Given the description of an element on the screen output the (x, y) to click on. 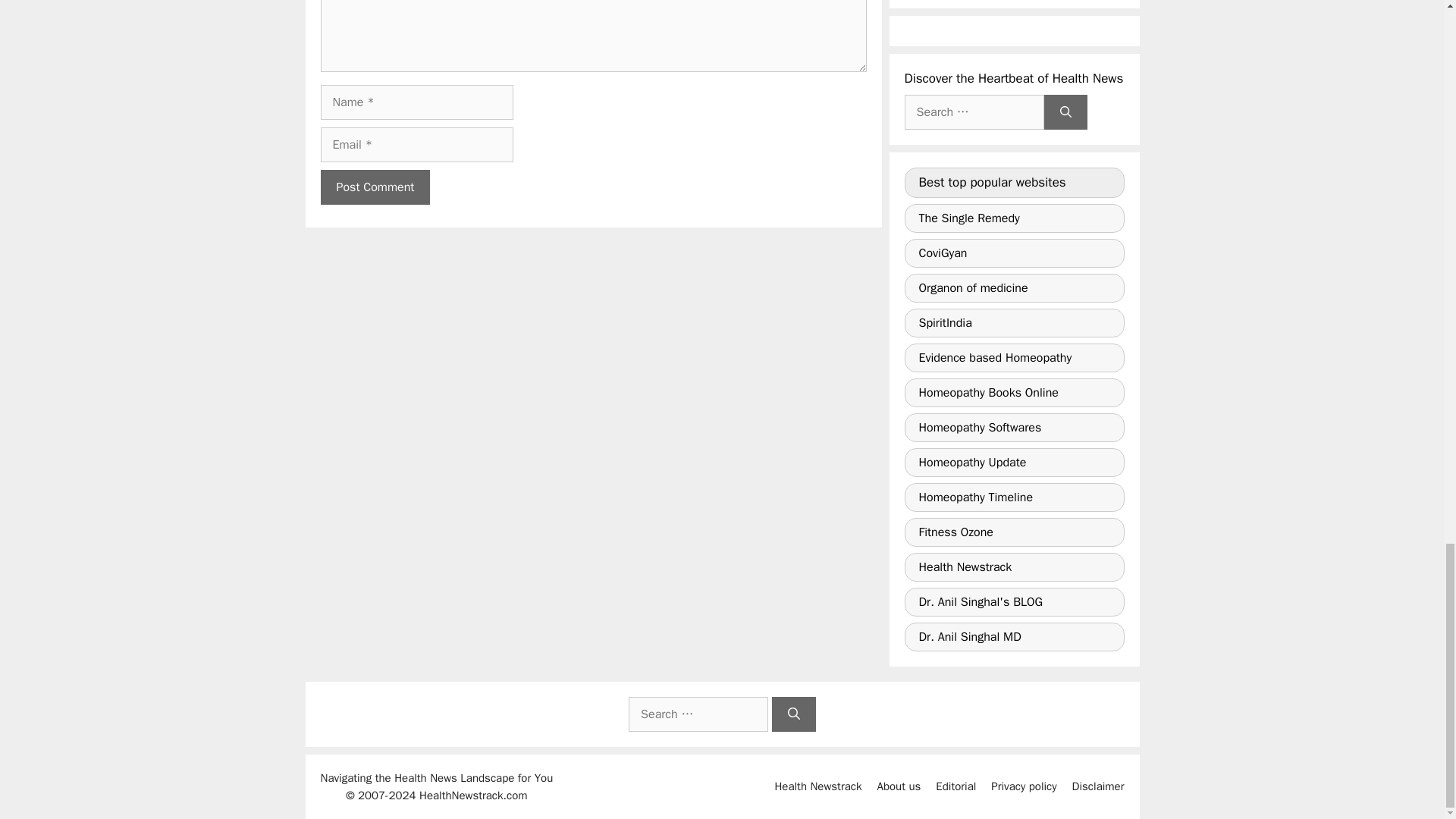
Post Comment (374, 186)
Comprehensive health portal (1014, 322)
Remedy portraits from homeopathic medicines (1014, 217)
Resource on Homeopathy principles (1014, 287)
Online Homeopathy books (1014, 392)
Search for: (973, 112)
Scientific evidence on Homeopathy (1014, 357)
Covid-19 and Health (1014, 253)
